Given the description of an element on the screen output the (x, y) to click on. 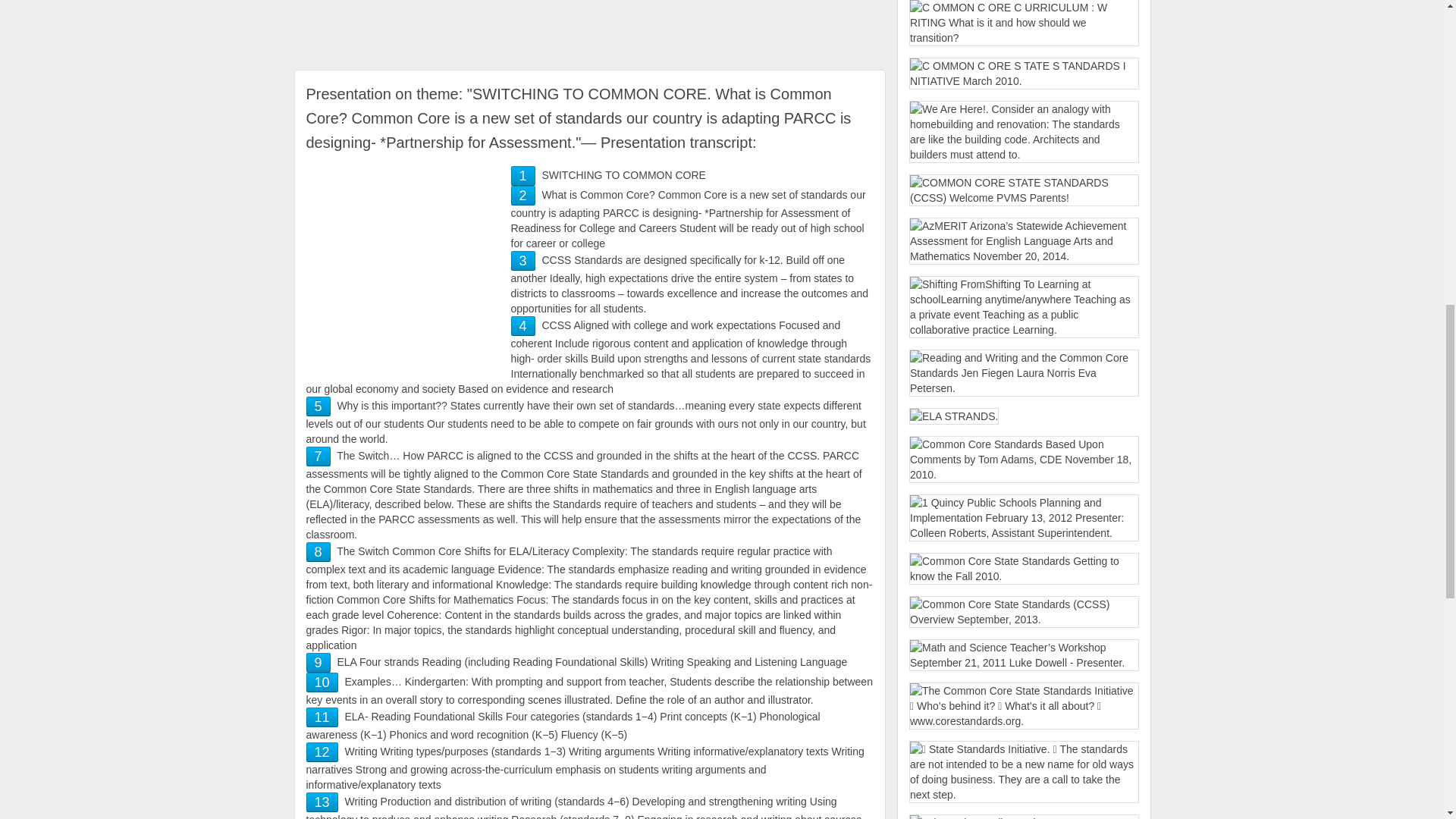
SWITCHING TO COMMON CORE (521, 175)
What is Common Core. (521, 195)
Why is this important . (317, 406)
CCSS Standards are designed specifically for k-12. (521, 260)
